Given the description of an element on the screen output the (x, y) to click on. 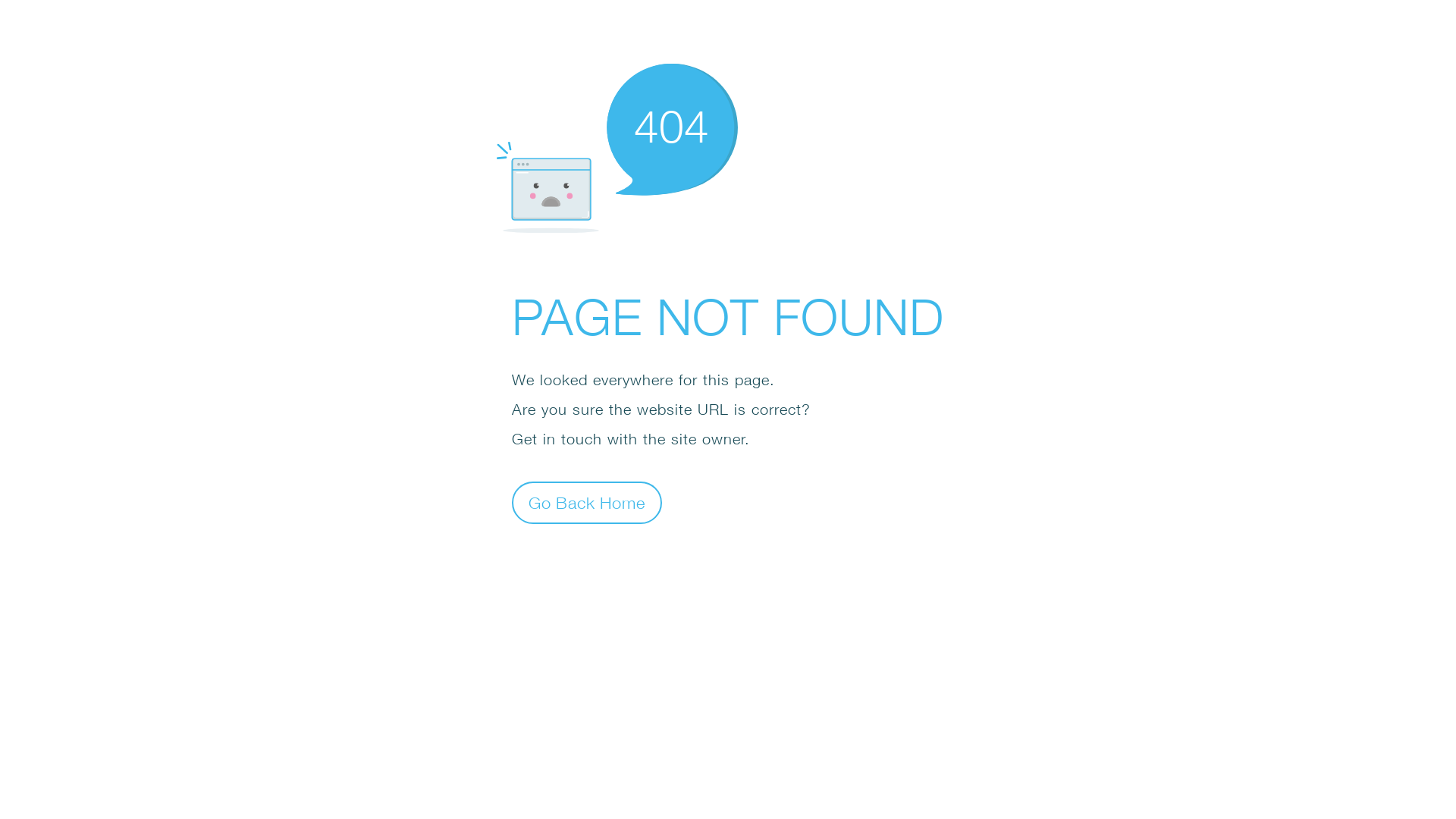
Go Back Home Element type: text (586, 502)
